Given the description of an element on the screen output the (x, y) to click on. 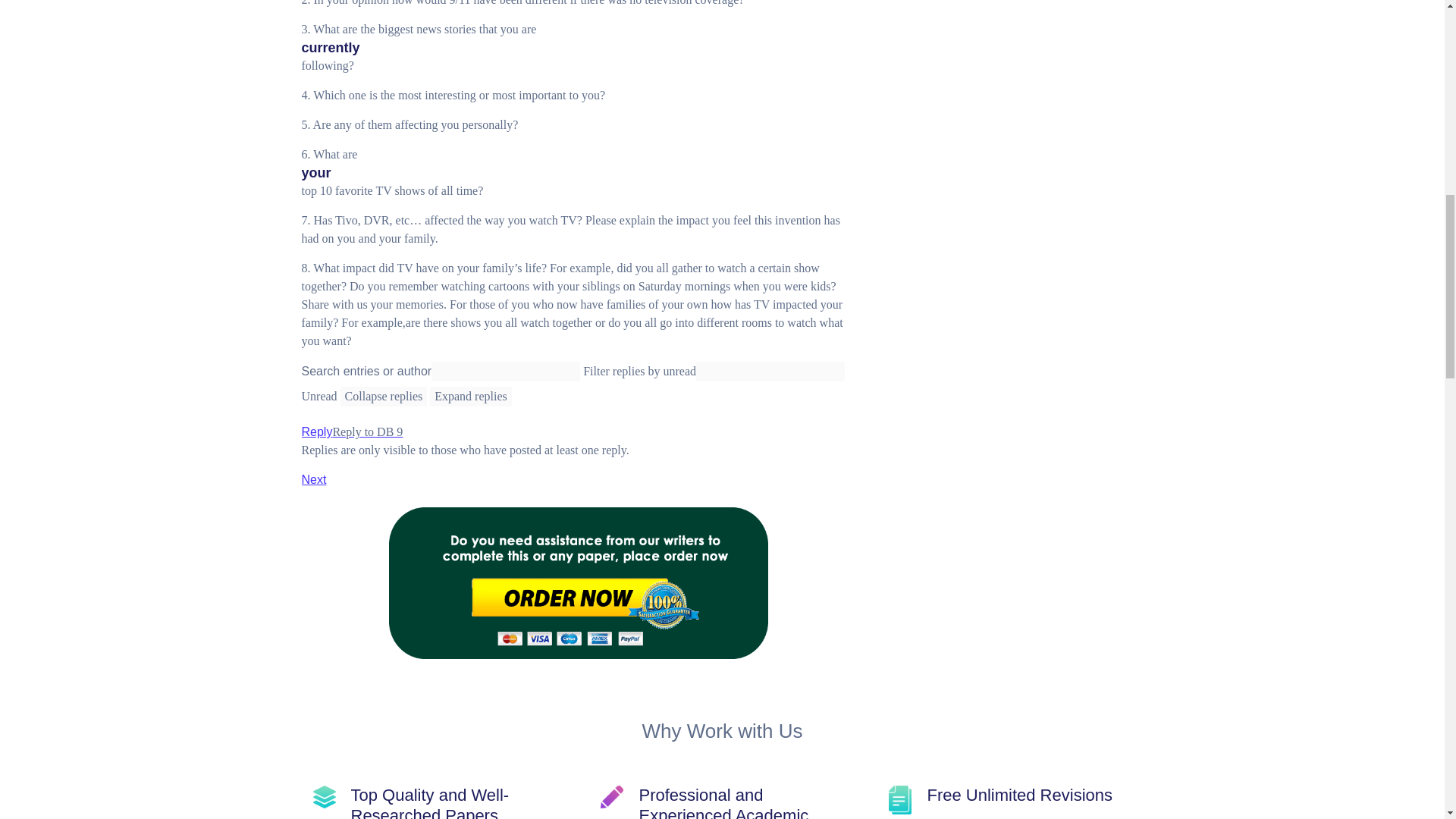
Next (313, 479)
Collapse replies (384, 396)
Expand replies (470, 396)
ReplyReply to DB 9 (352, 431)
